Given the description of an element on the screen output the (x, y) to click on. 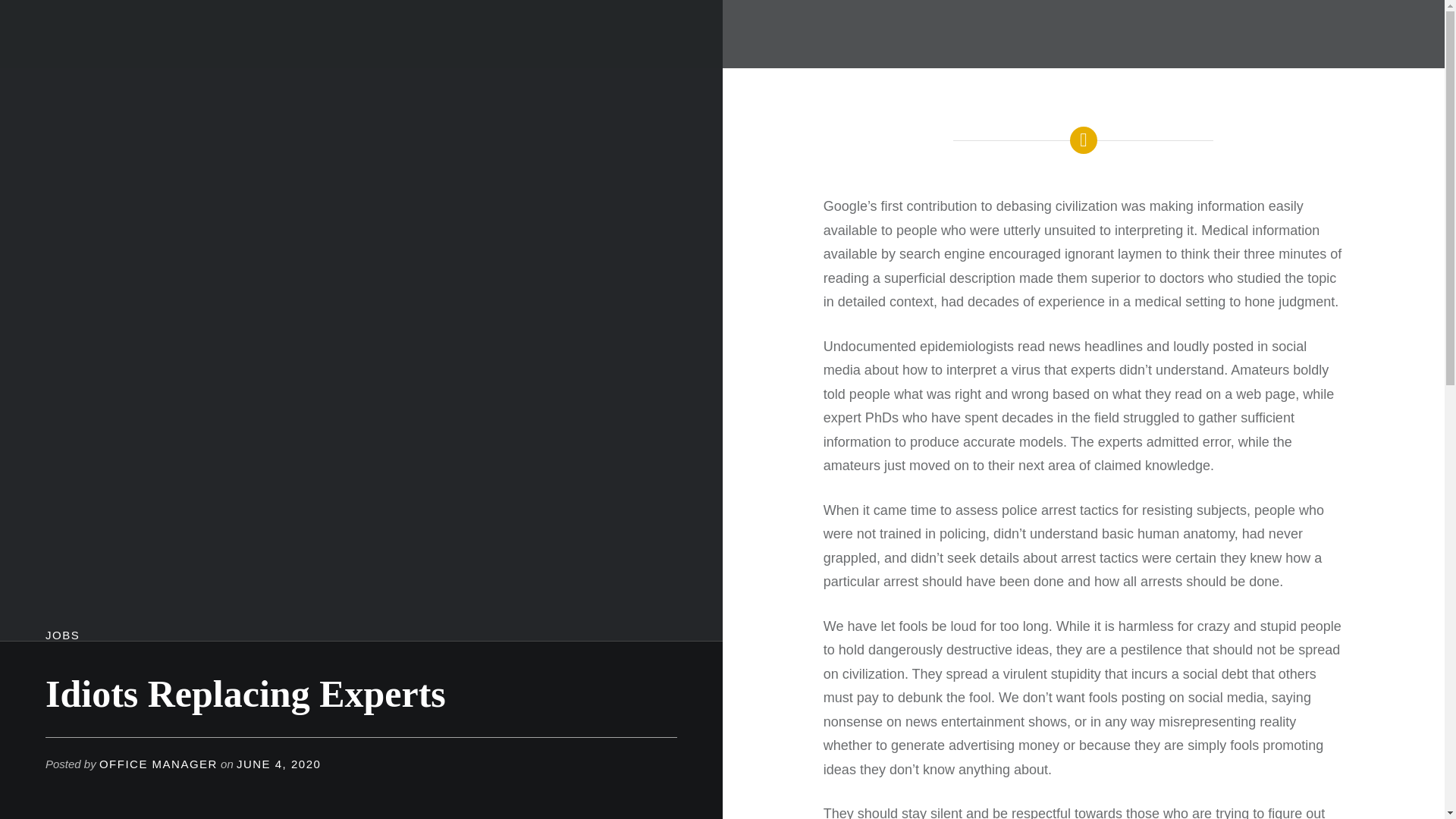
I Hate Jobs (85, 47)
JOBS (62, 634)
OFFICE MANAGER (157, 763)
JUNE 4, 2020 (277, 763)
Search (361, 19)
